Given the description of an element on the screen output the (x, y) to click on. 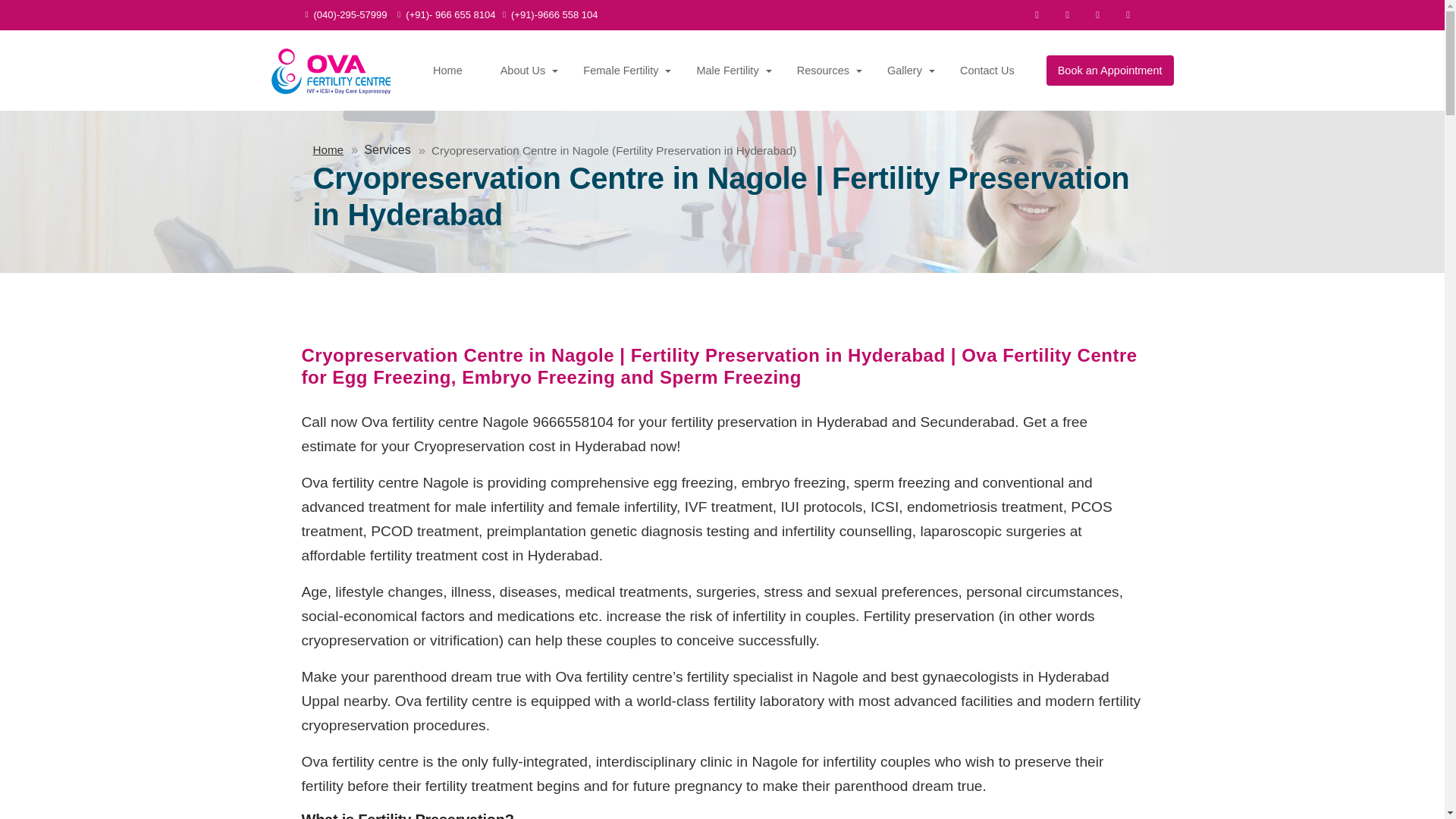
Google (1127, 15)
About Us (528, 70)
Home (452, 70)
Female Fertility (625, 70)
Linkedin (1098, 15)
Facebook (1037, 15)
Twitter (1067, 15)
